Given the description of an element on the screen output the (x, y) to click on. 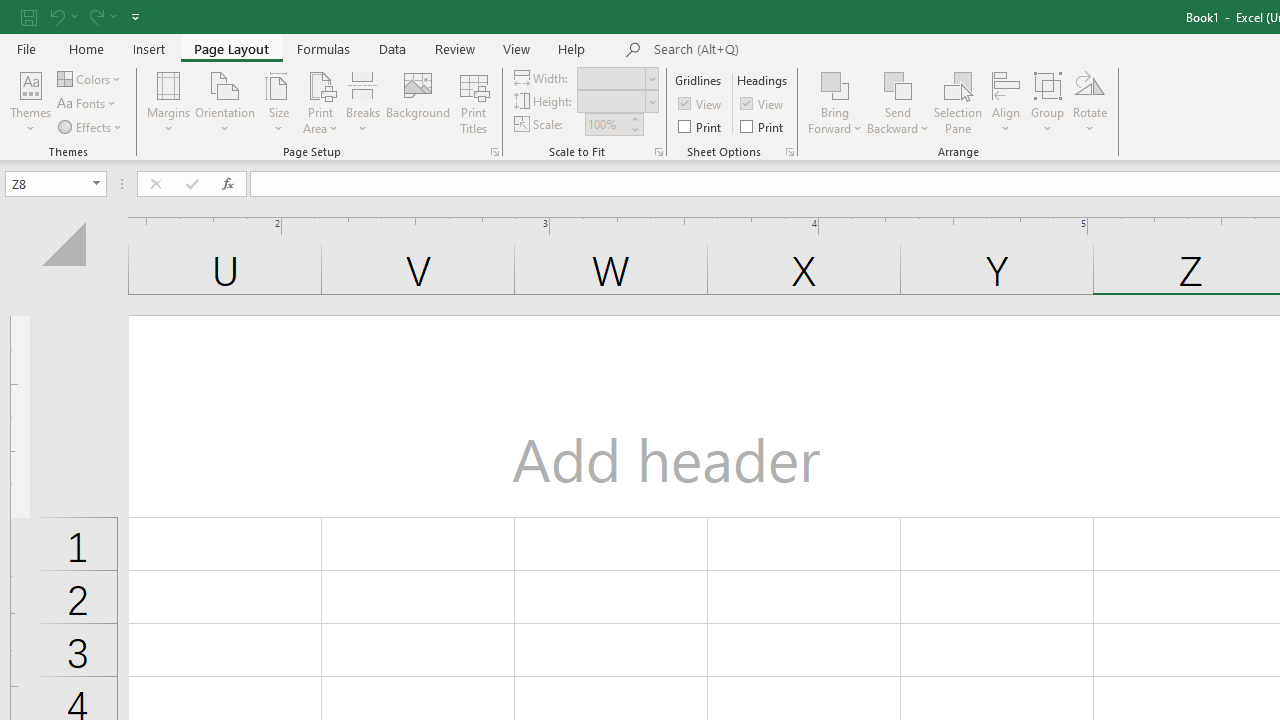
Scale (605, 124)
Save (29, 15)
Bring Forward (835, 84)
More Options (898, 121)
Sheet Options (789, 151)
Print Area (320, 102)
Margins (168, 102)
Width (611, 78)
Data (392, 48)
